Given the description of an element on the screen output the (x, y) to click on. 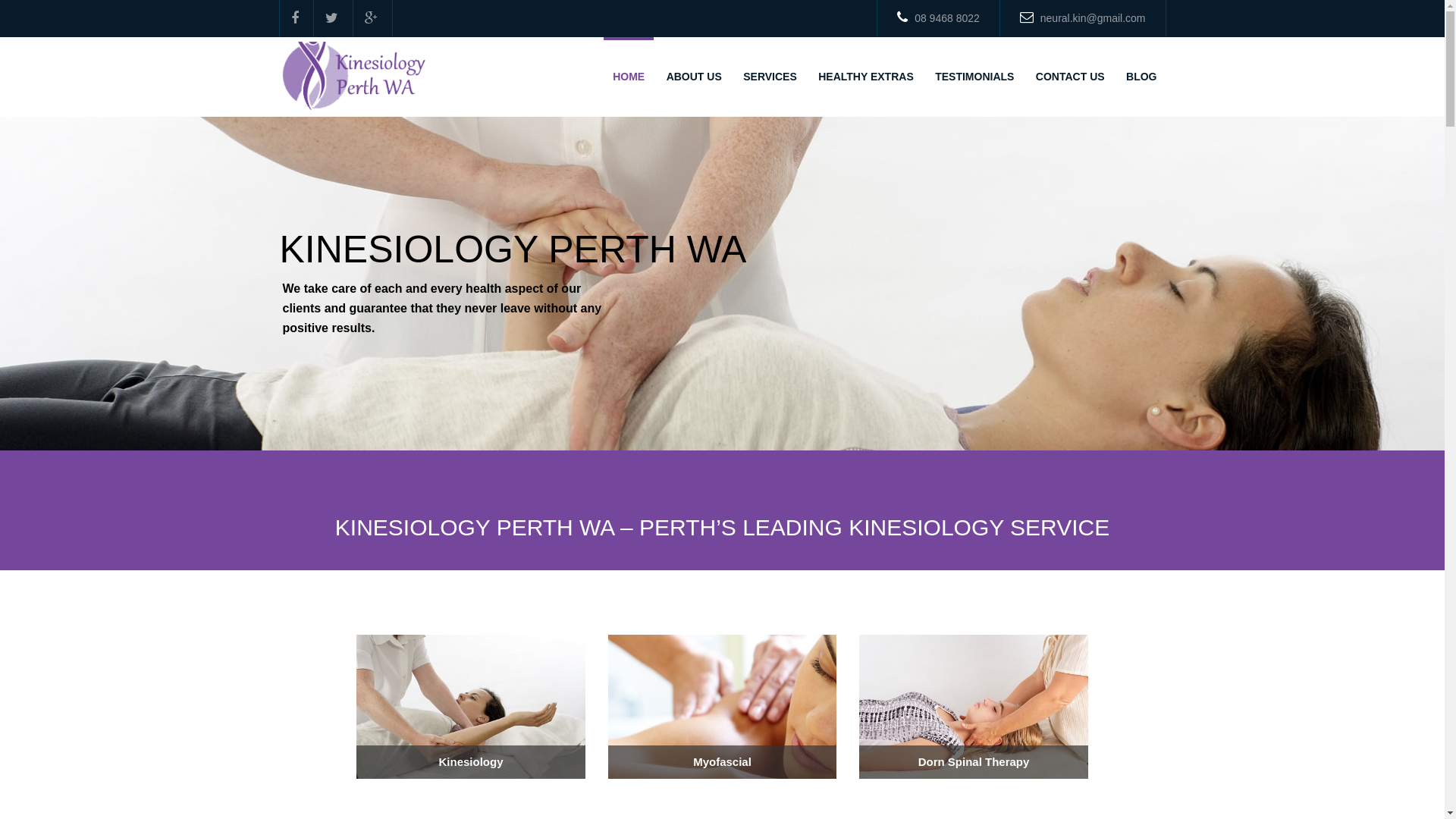
Just another WordPress site Element type: hover (354, 74)
CONTACT US Element type: text (1069, 76)
neural.kin@gmail.com Element type: text (1082, 18)
HOME Element type: text (628, 76)
HEALTHY EXTRAS Element type: text (865, 76)
ABOUT US Element type: text (694, 76)
TESTIMONIALS Element type: text (973, 76)
SERVICES Element type: text (770, 76)
BLOG Element type: text (1141, 76)
08 9468 8022 Element type: text (937, 18)
